Given the description of an element on the screen output the (x, y) to click on. 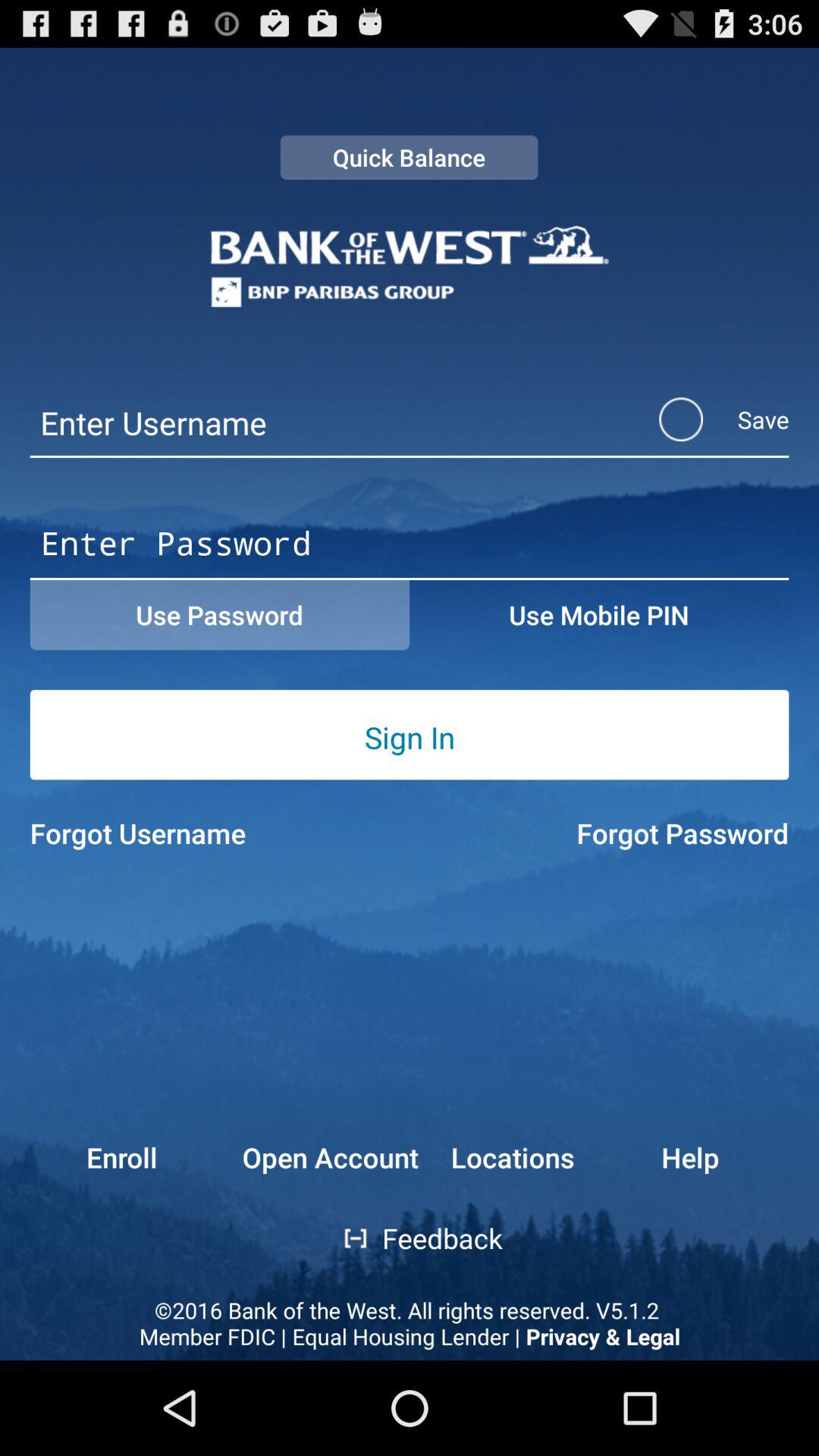
jump to the use password (219, 615)
